Given the description of an element on the screen output the (x, y) to click on. 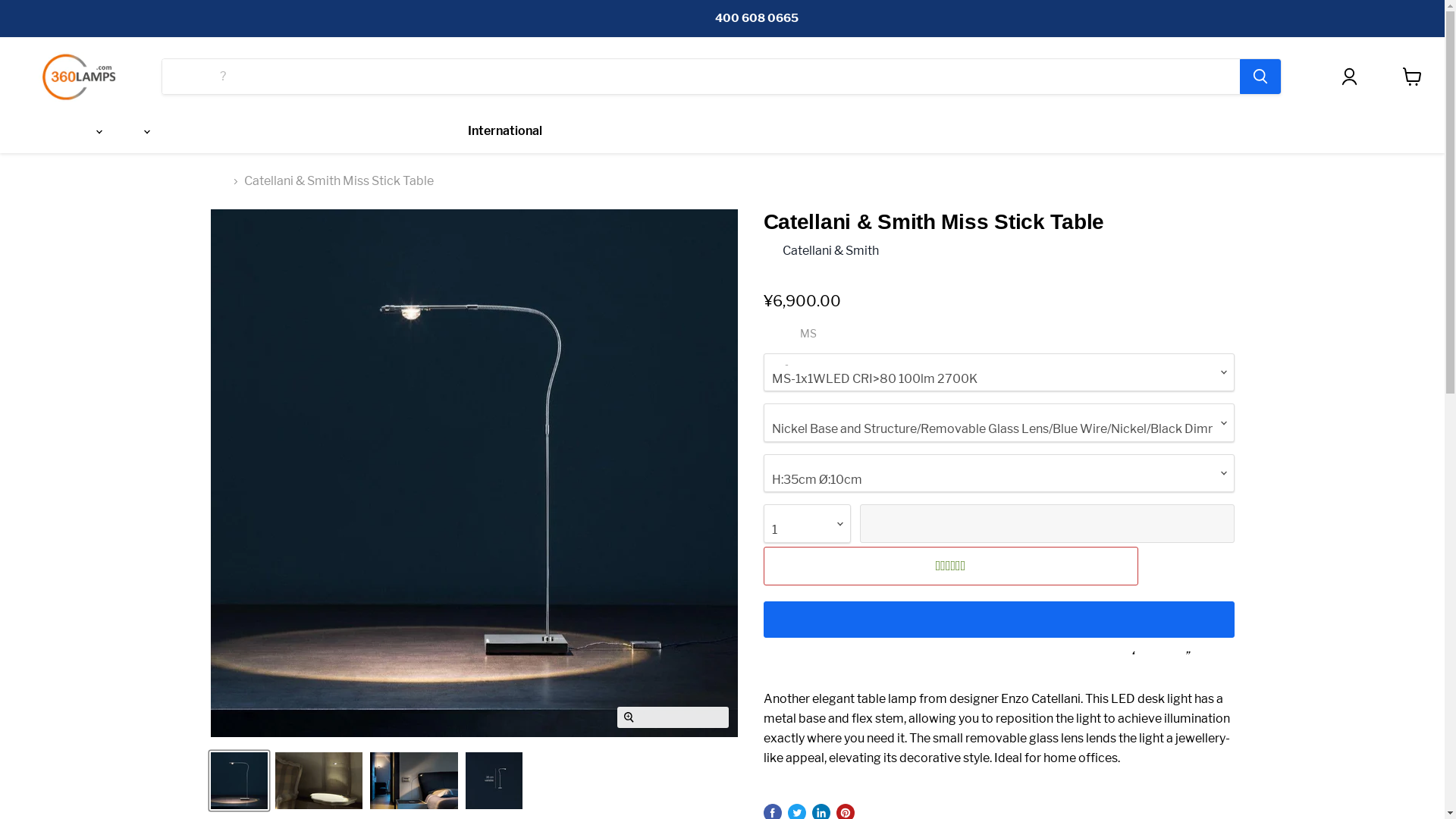
International Element type: text (504, 131)
Catellani & Smith Element type: text (830, 250)
